Given the description of an element on the screen output the (x, y) to click on. 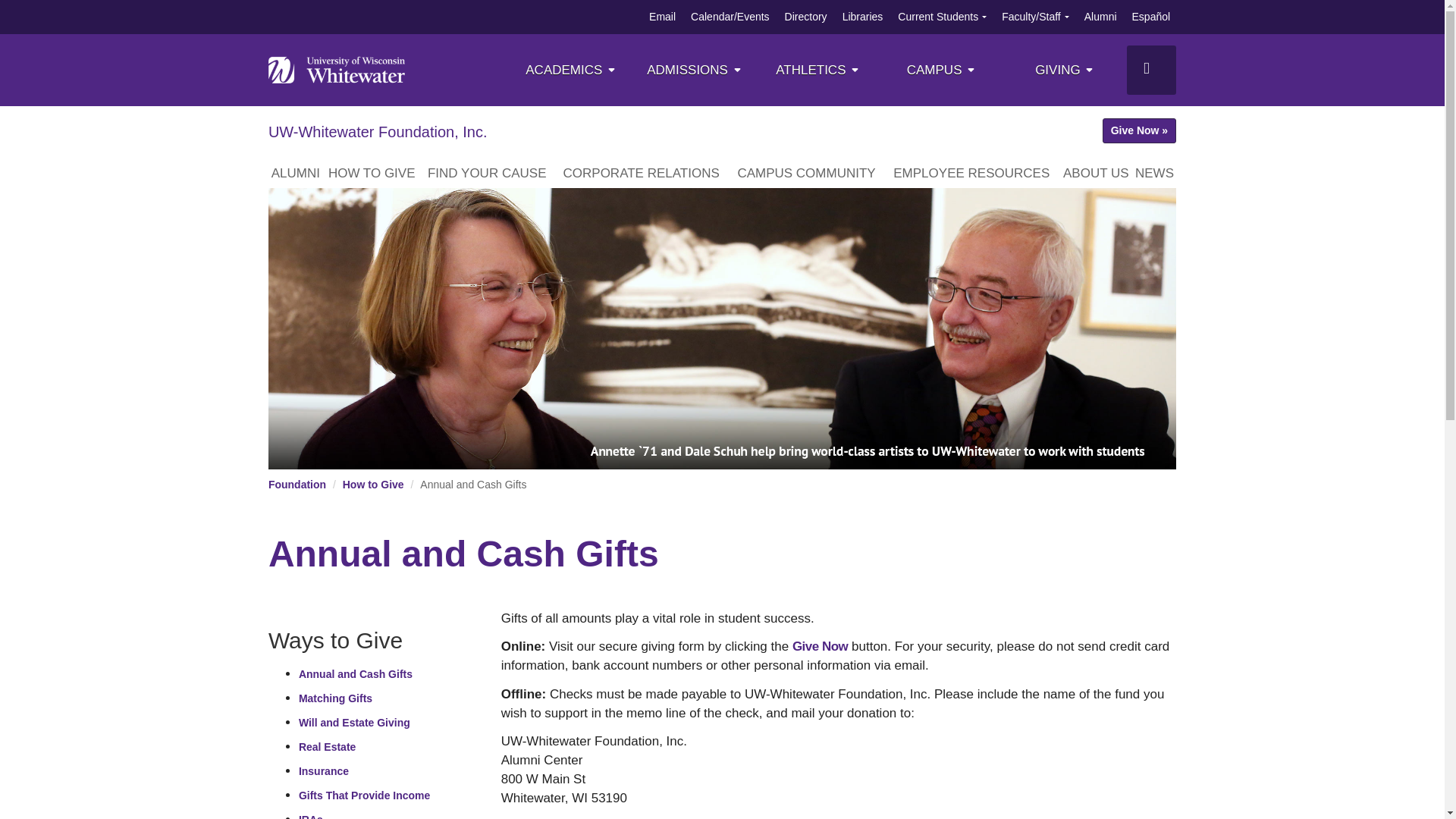
Directory (805, 16)
Email (662, 16)
Libraries (863, 16)
ACADEMICS (571, 70)
Alumni (1100, 16)
Current Students (938, 16)
